Given the description of an element on the screen output the (x, y) to click on. 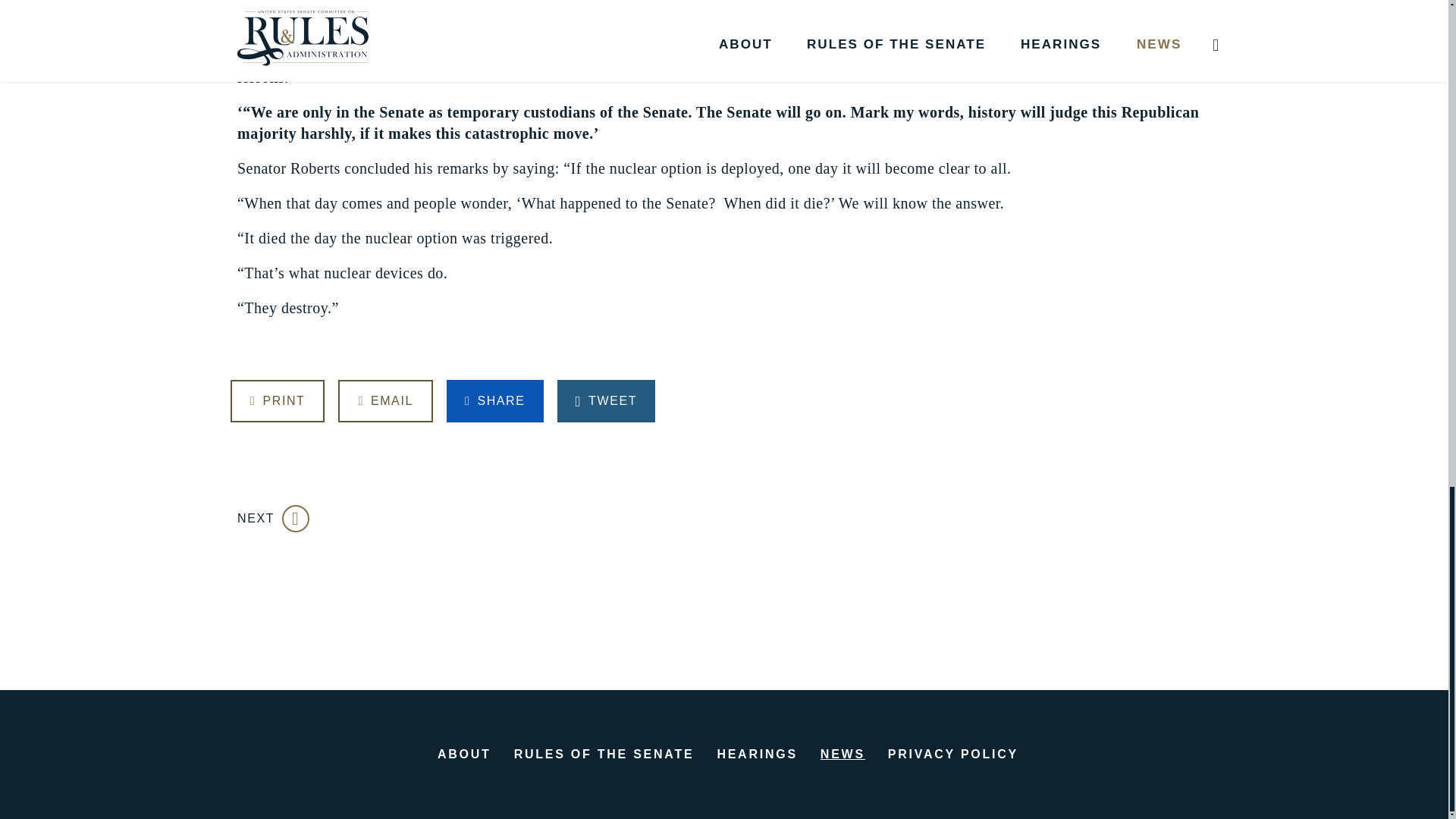
HEARINGS (756, 753)
PRIVACY POLICY (952, 753)
NEWS (842, 753)
RULES OF THE SENATE (603, 753)
Privacy Policy (952, 753)
NEXT (272, 518)
Hearings (756, 753)
EMAIL (384, 401)
About (465, 753)
ABOUT (465, 753)
